Given the description of an element on the screen output the (x, y) to click on. 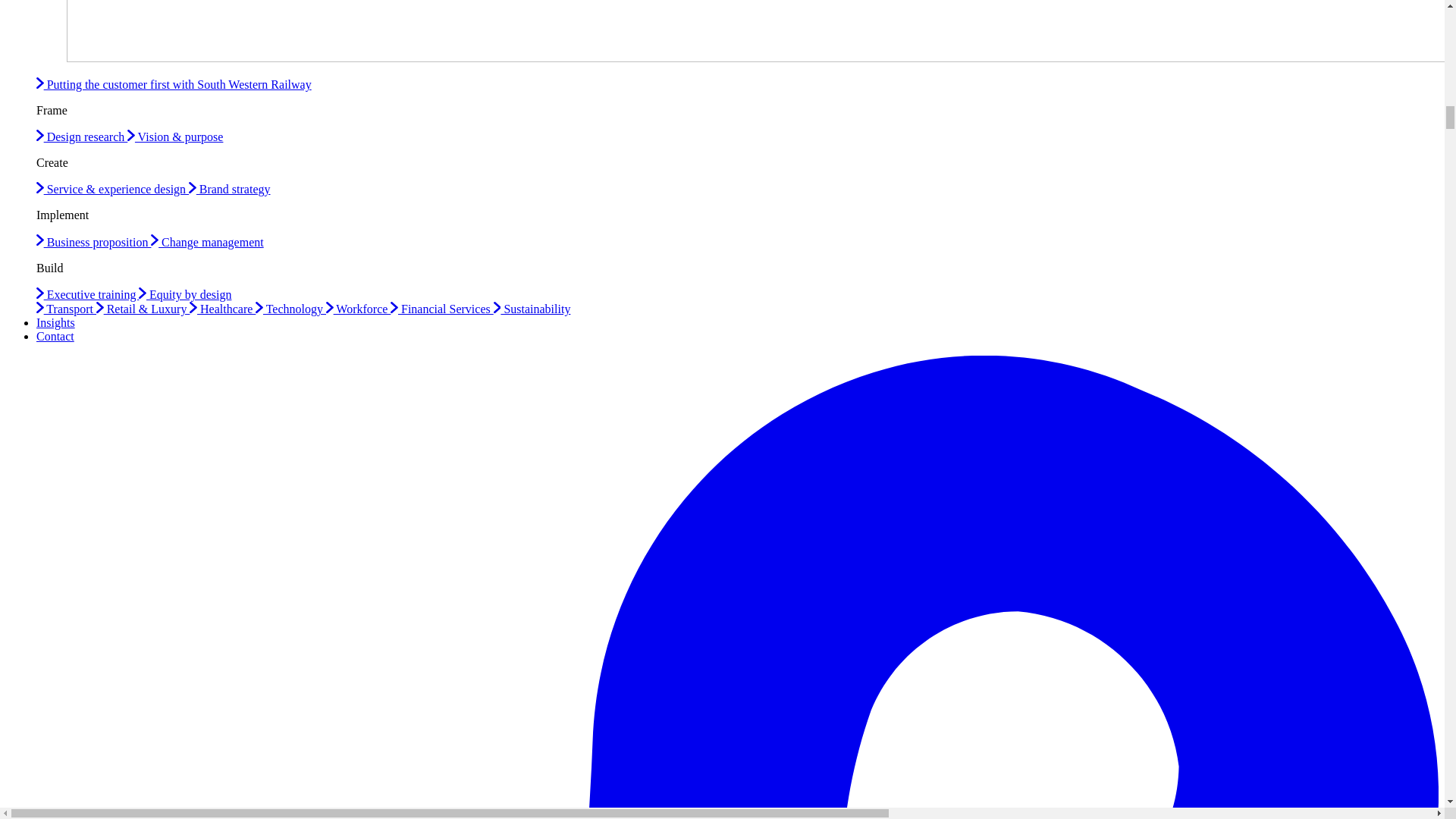
Healthcare (222, 308)
Transport (66, 308)
Insights (55, 322)
Executive training (87, 294)
Business proposition (93, 241)
Equity by design (184, 294)
Sustainability (531, 308)
Contact (55, 336)
Financial Services (441, 308)
Change management (207, 241)
Brand strategy (229, 188)
Technology (291, 308)
Workforce (358, 308)
Design research (82, 136)
